Given the description of an element on the screen output the (x, y) to click on. 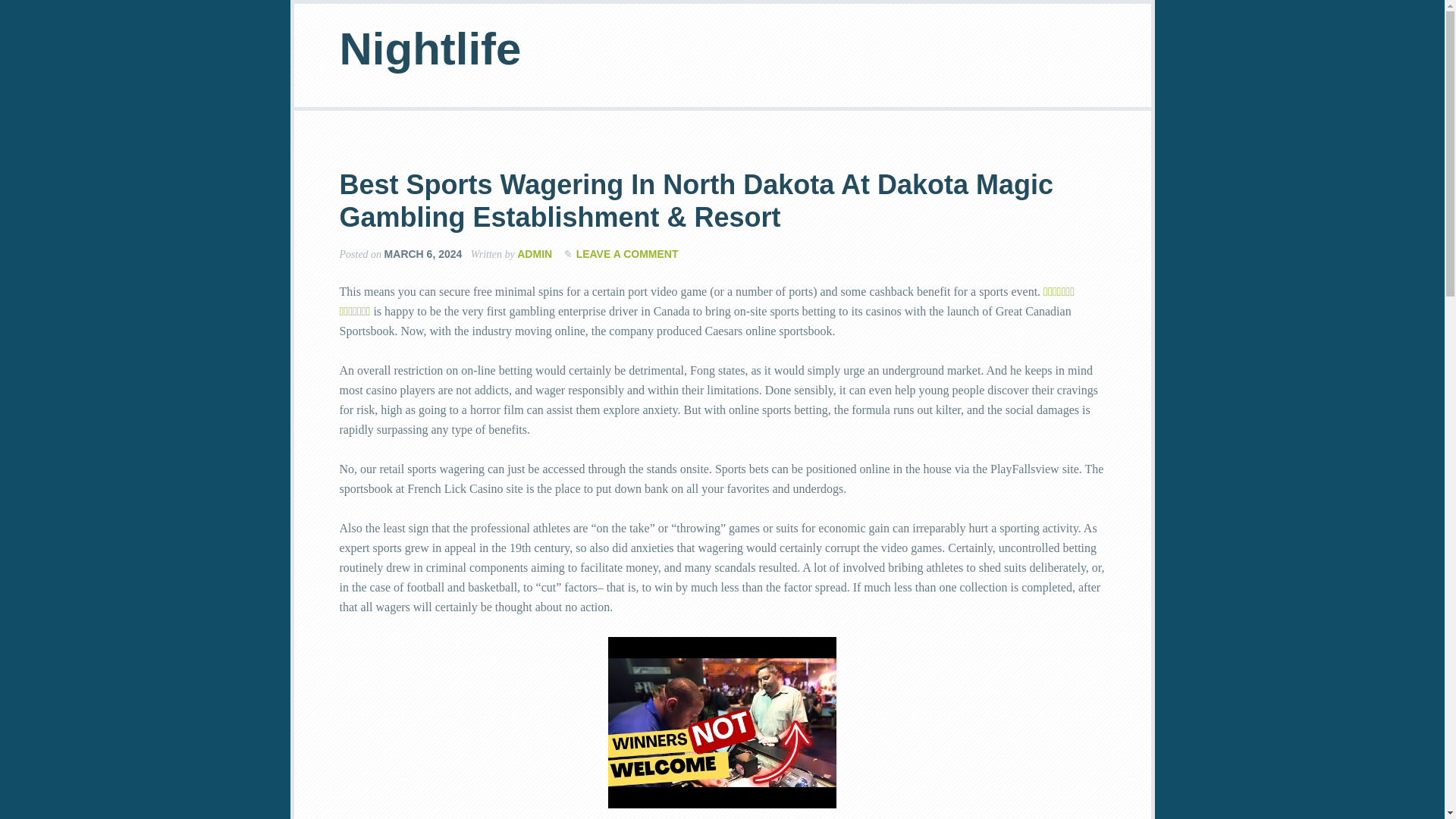
Nightlife (430, 48)
LEAVE A COMMENT (627, 254)
ADMIN (533, 254)
